Given the description of an element on the screen output the (x, y) to click on. 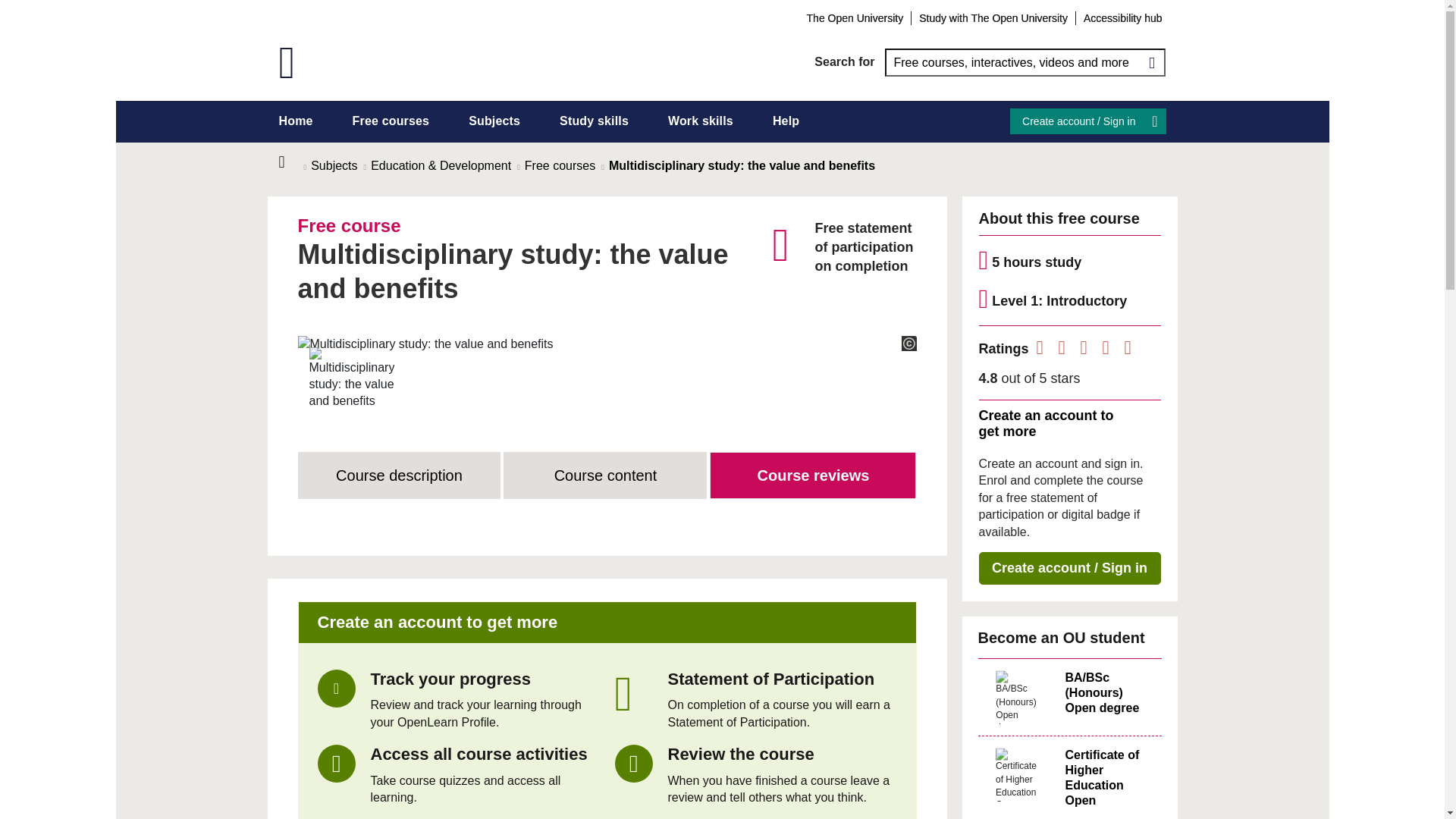
The Open University (855, 17)
Multidisciplinary study: the value and benefits (425, 343)
Subjects (493, 120)
Course content (604, 474)
Help (786, 120)
Home (291, 162)
Search (1151, 62)
Study skills (593, 120)
Study with The Open University (993, 17)
Accessibility hub (1123, 17)
Work skills (700, 120)
Home (296, 120)
Course description (399, 474)
Multidisciplinary study: the value and benefits (351, 378)
Free courses (390, 120)
